Given the description of an element on the screen output the (x, y) to click on. 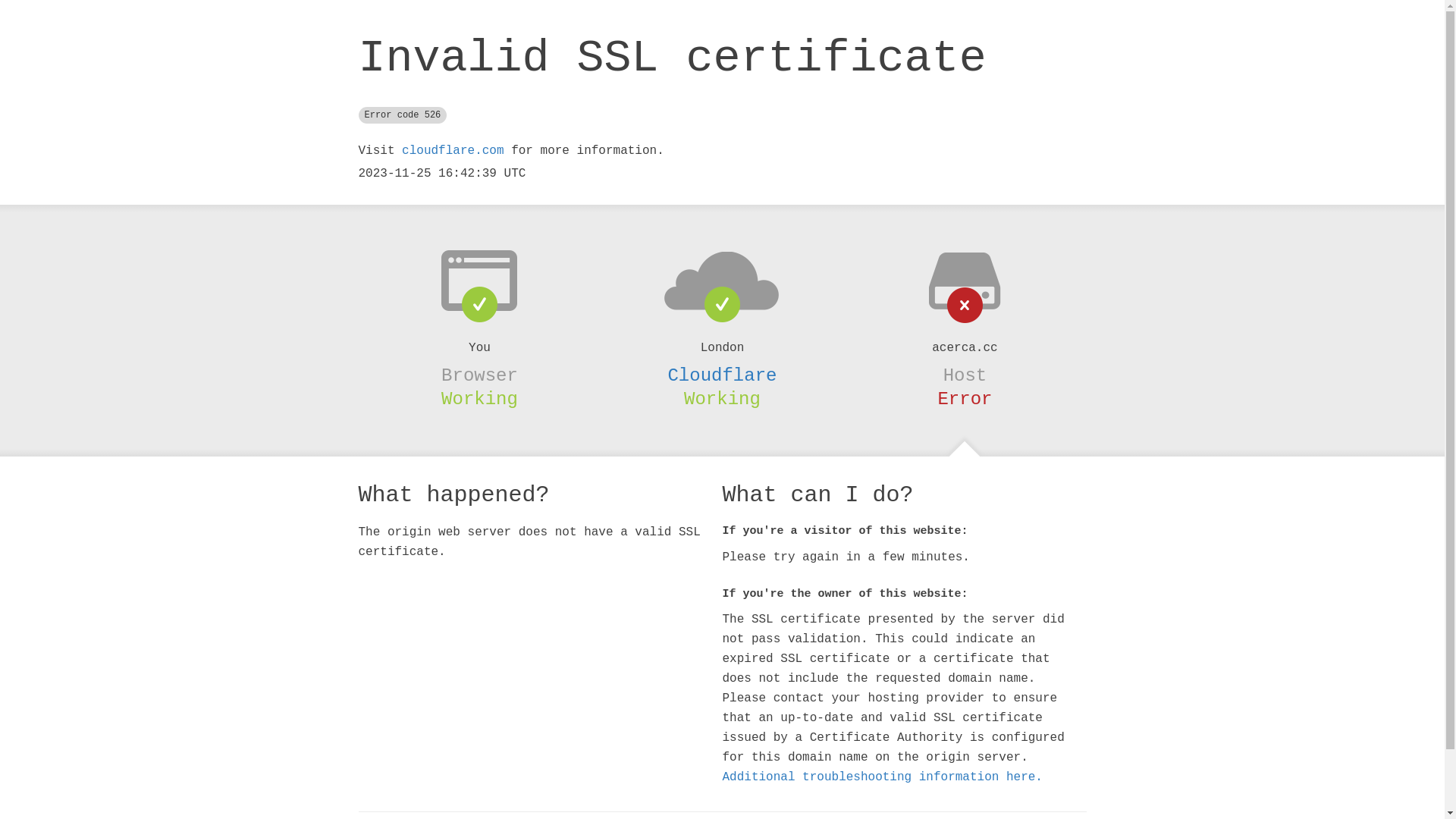
Additional troubleshooting information here. Element type: text (881, 777)
Cloudflare Element type: text (721, 375)
cloudflare.com Element type: text (452, 150)
